Given the description of an element on the screen output the (x, y) to click on. 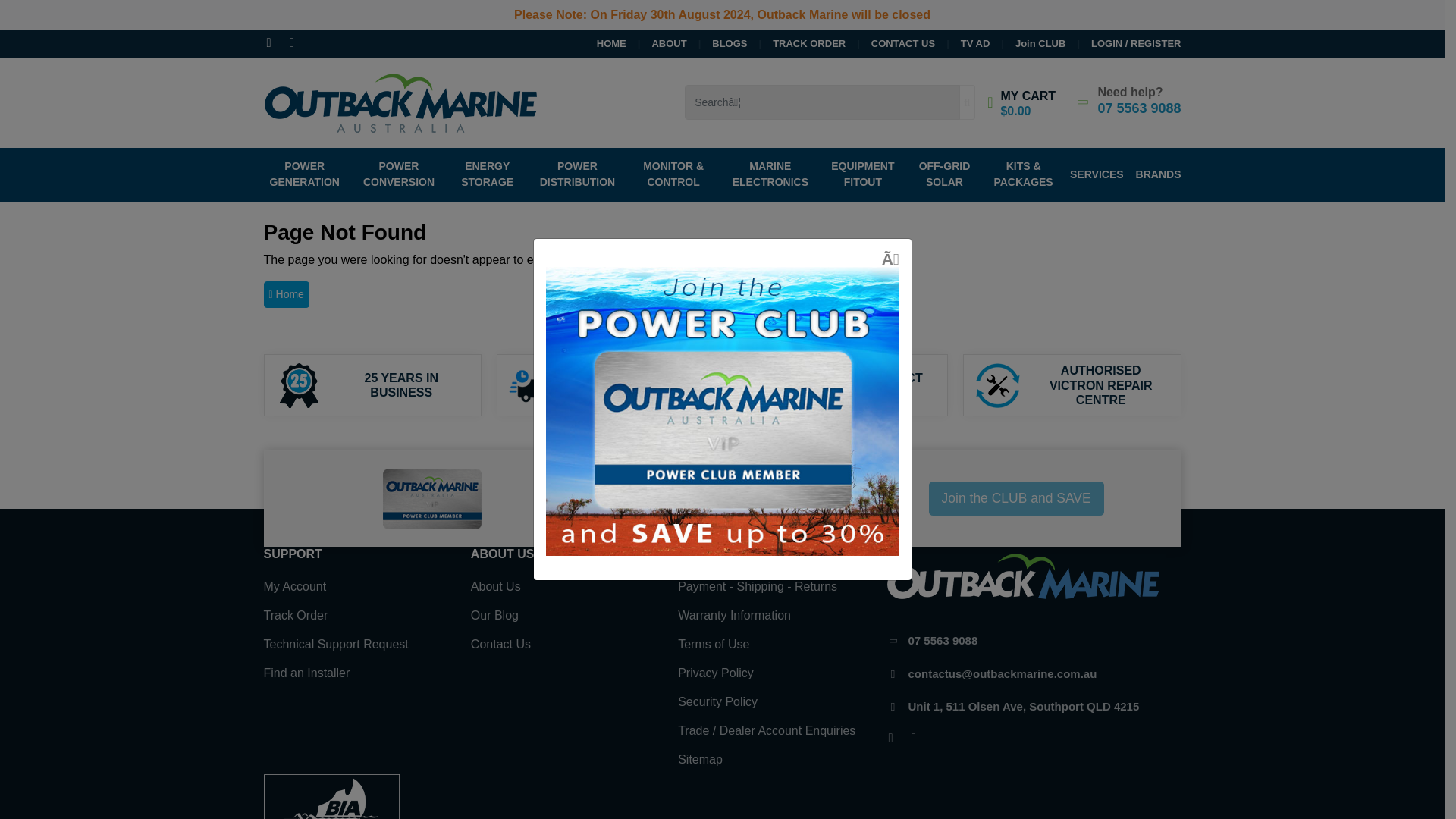
Join CLUB (1027, 43)
POWER GENERATION (307, 173)
07 5563 9088 (1138, 107)
Home Page (285, 294)
HOME (611, 43)
BLOGS (717, 43)
Login (1122, 43)
TRACK ORDER (796, 43)
ABOUT (656, 43)
Outback Marine Australia Pty Ltd (400, 101)
